Given the description of an element on the screen output the (x, y) to click on. 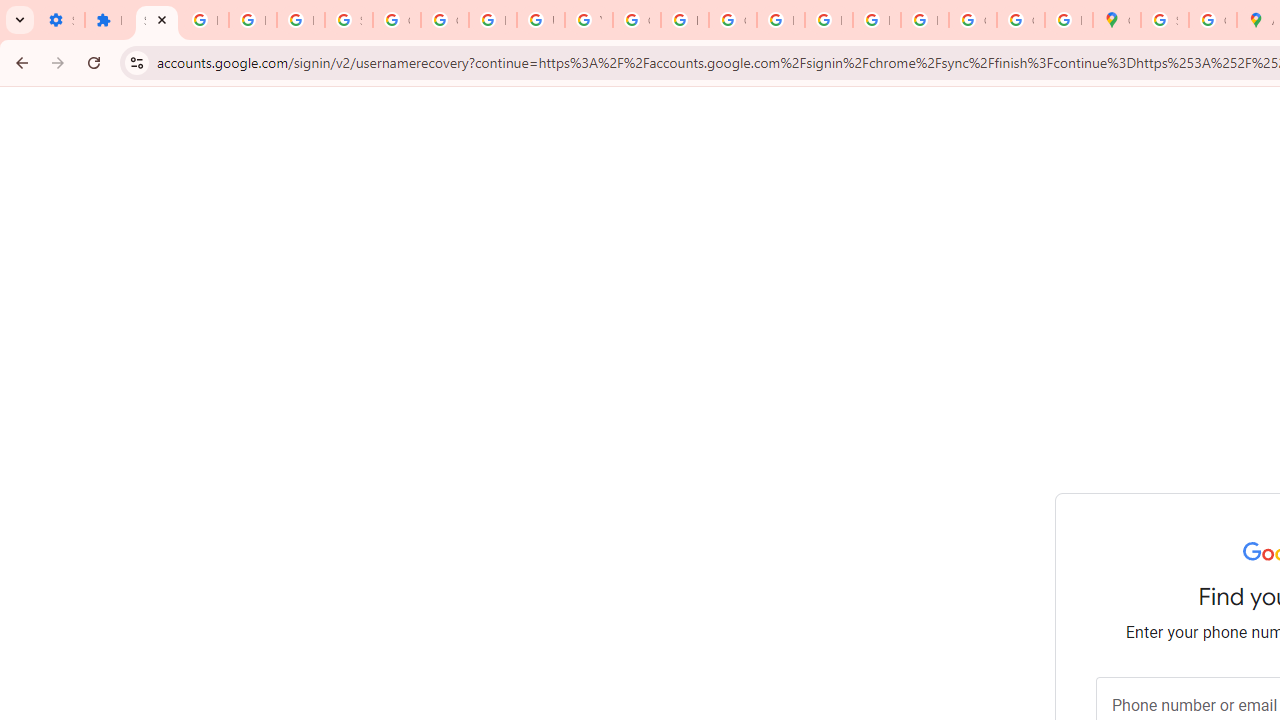
Delete photos & videos - Computer - Google Photos Help (204, 20)
Google Account Help (396, 20)
Privacy Help Center - Policies Help (780, 20)
Learn how to find your photos - Google Photos Help (252, 20)
Google Maps (1116, 20)
Sign in - Google Accounts (1164, 20)
